Given the description of an element on the screen output the (x, y) to click on. 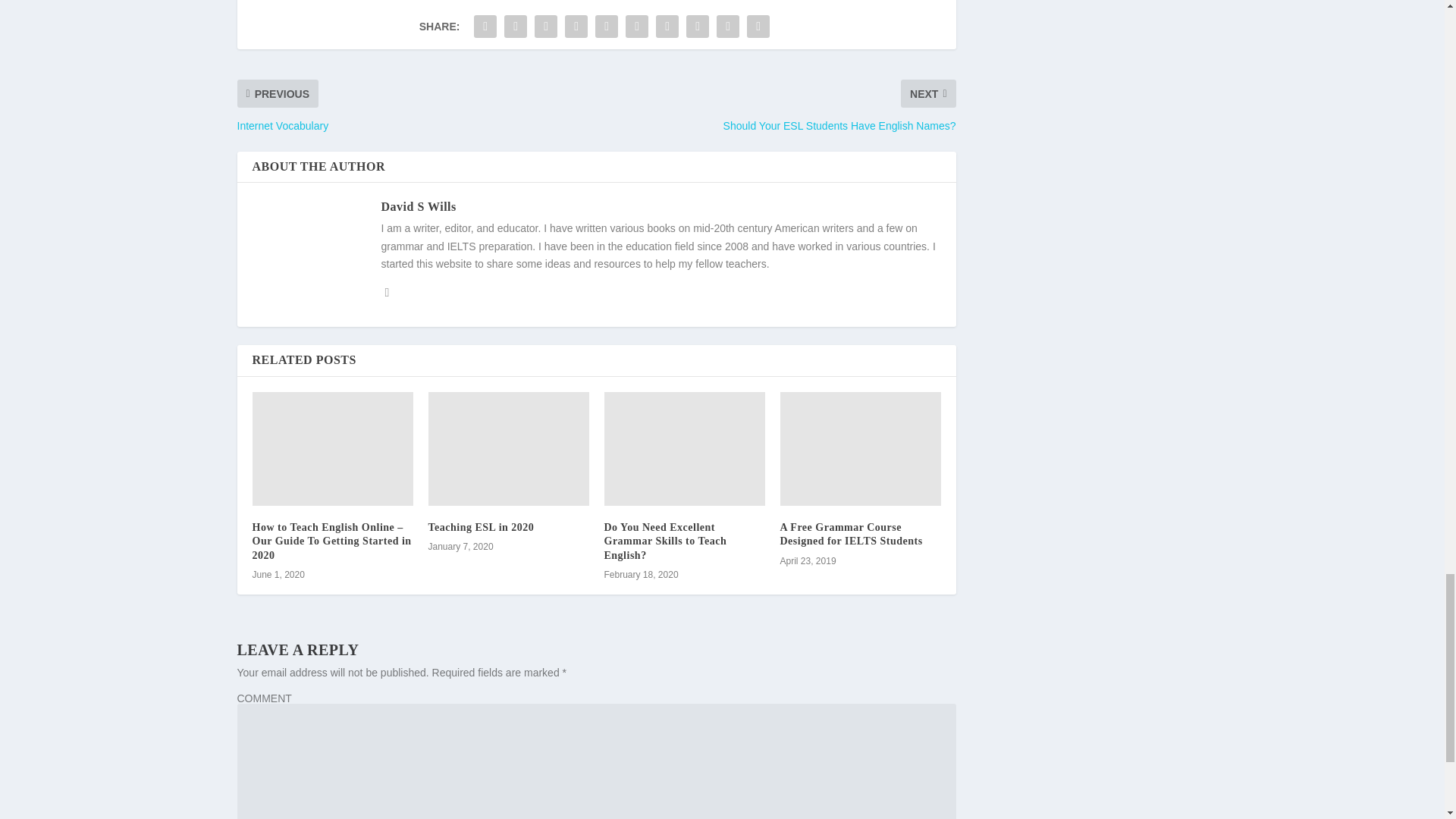
Share "How to Handle Marking for Large Classes" via LinkedIn (636, 26)
Share "How to Handle Marking for Large Classes" via Facebook (485, 26)
Share "How to Handle Marking for Large Classes" via Email (727, 26)
Share "How to Handle Marking for Large Classes" via Twitter (515, 26)
Share "How to Handle Marking for Large Classes" via Buffer (667, 26)
Share "How to Handle Marking for Large Classes" via Tumblr (575, 26)
David S Wills (417, 205)
